Given the description of an element on the screen output the (x, y) to click on. 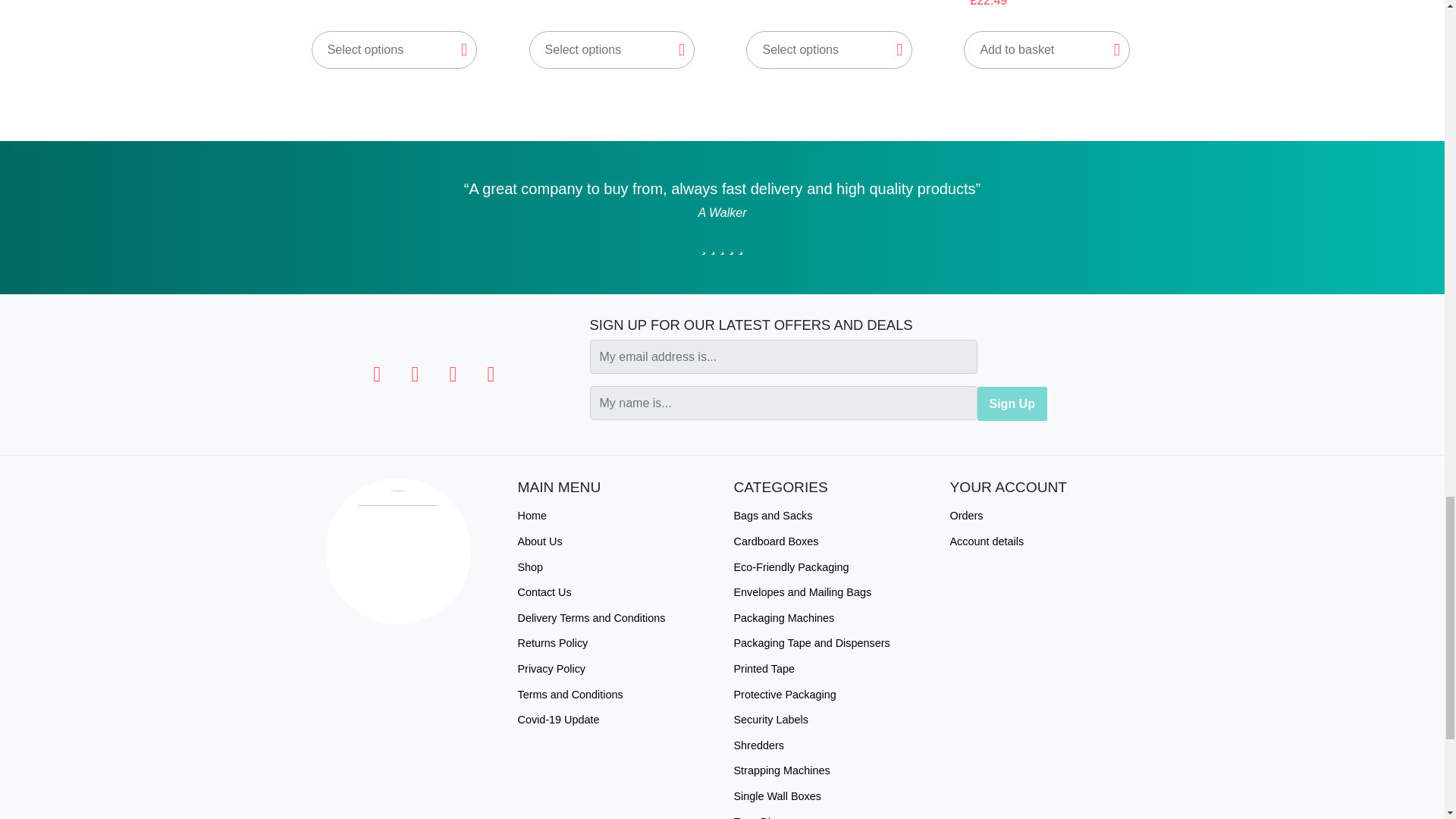
Select options (394, 49)
Sign Up (1011, 403)
